Given the description of an element on the screen output the (x, y) to click on. 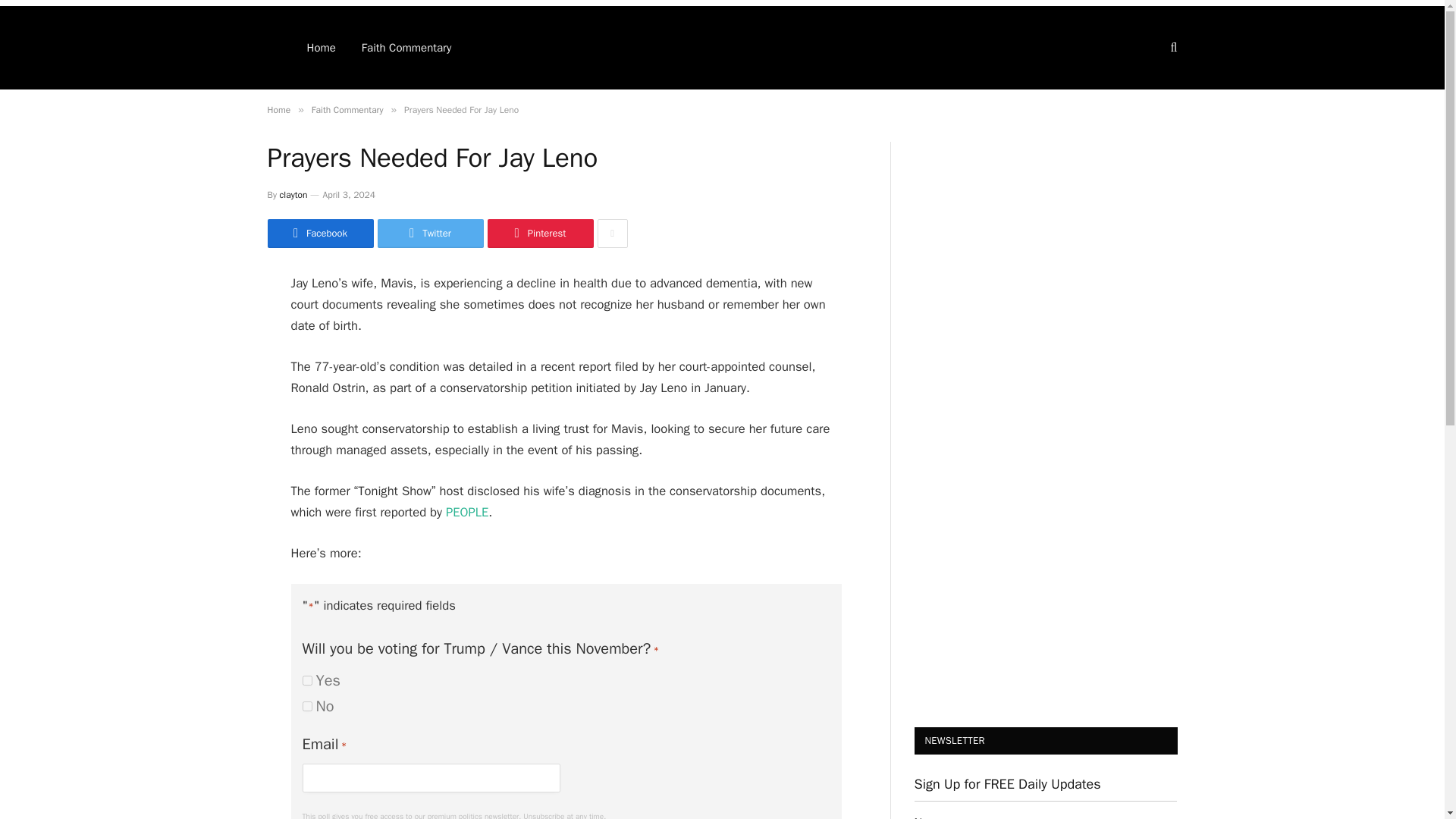
PEOPLE (466, 512)
ben carson photo (1045, 400)
Home (277, 110)
clayton (293, 194)
Faith Commentary (347, 110)
Facebook (319, 233)
Pinterest (539, 233)
Posts by clayton (293, 194)
Faith Commentary (406, 47)
Share on Pinterest (539, 233)
